Given the description of an element on the screen output the (x, y) to click on. 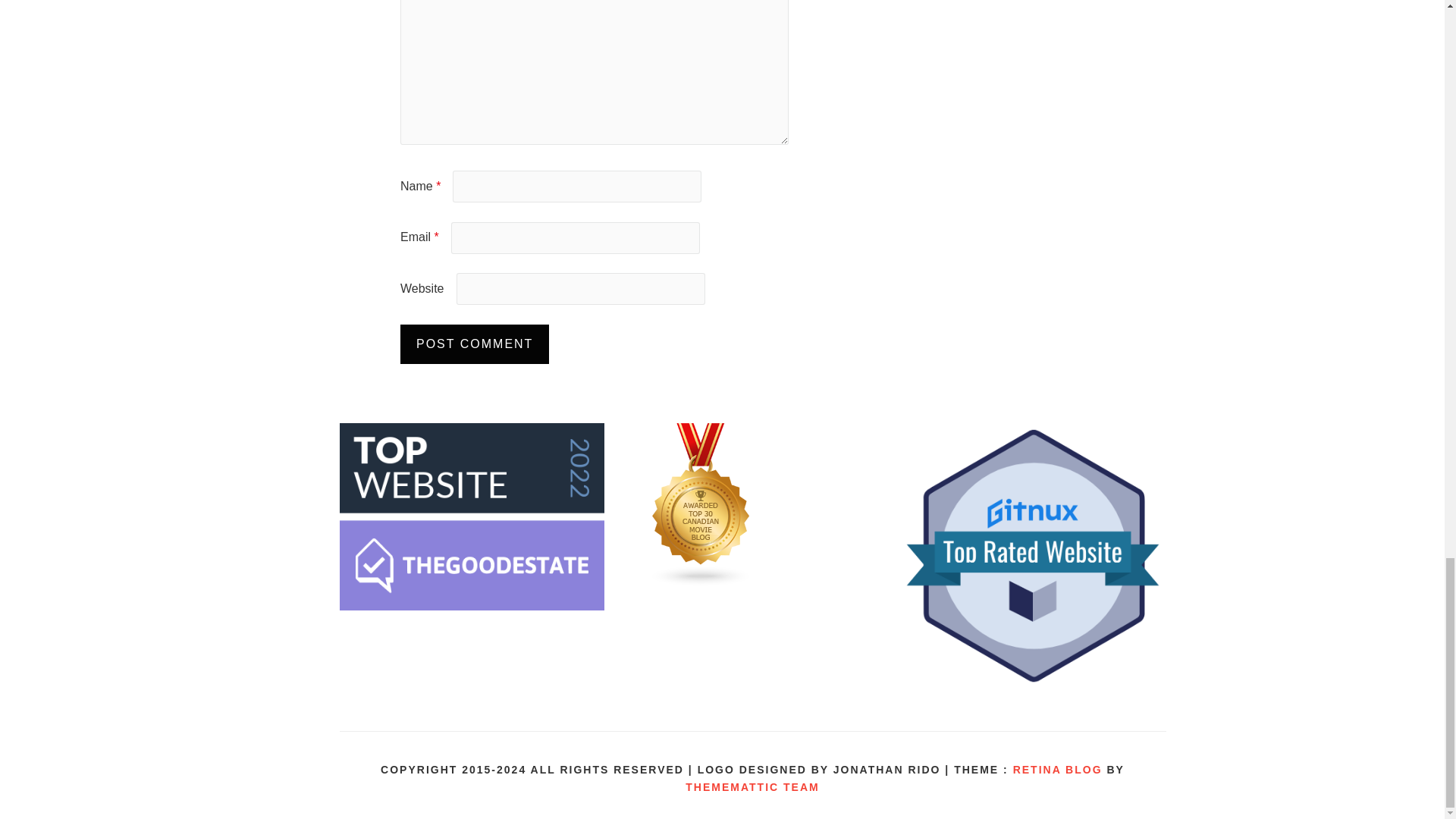
RETINA BLOG (1057, 769)
Post Comment (474, 344)
THEMEMATTIC TEAM (751, 787)
Canadian Movie Blogs (701, 582)
Post Comment (474, 344)
